Given the description of an element on the screen output the (x, y) to click on. 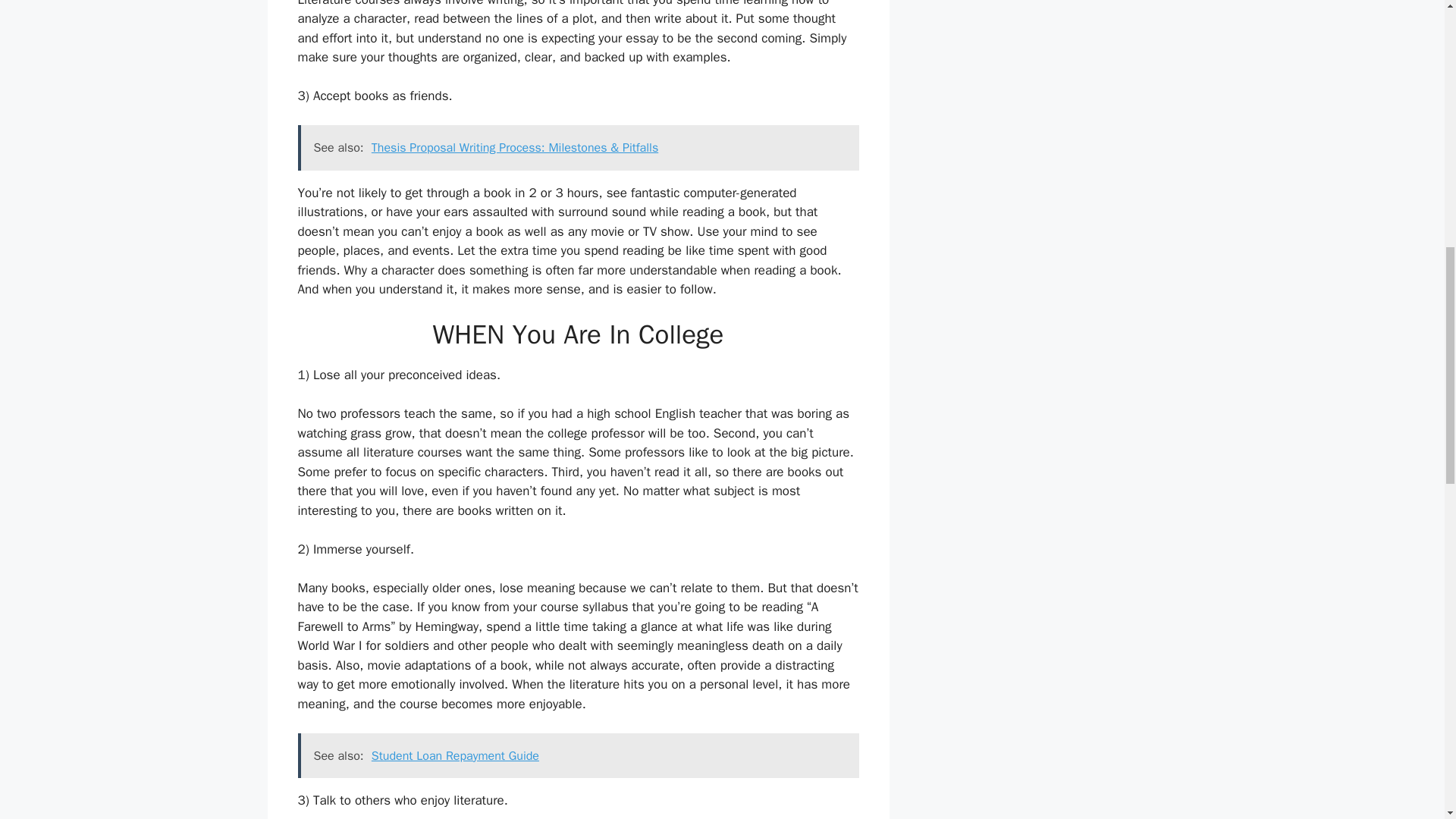
Scroll back to top (1406, 720)
See also:  Student Loan Repayment Guide (578, 755)
